Given the description of an element on the screen output the (x, y) to click on. 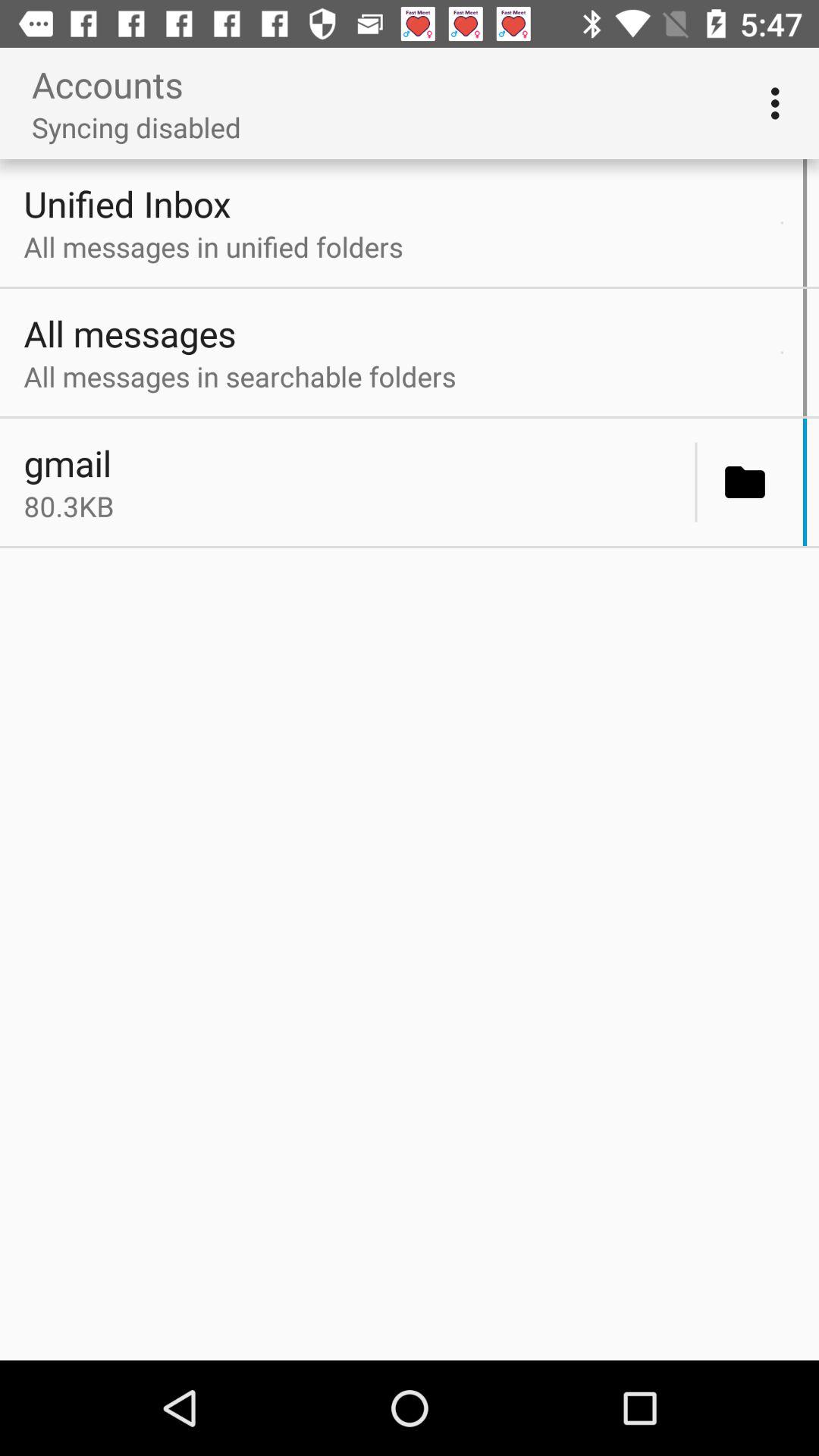
launch item next to gmail item (696, 482)
